Given the description of an element on the screen output the (x, y) to click on. 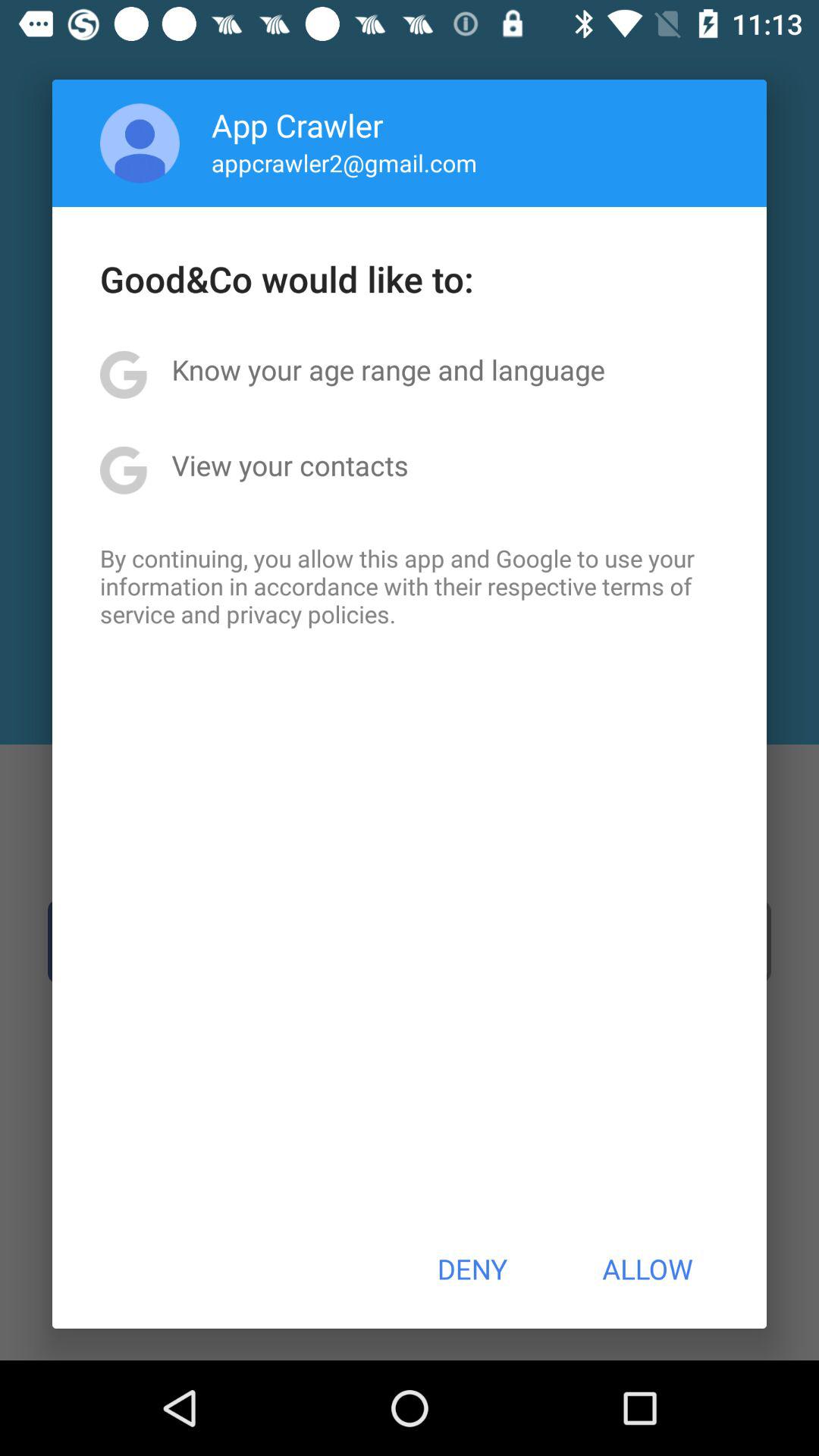
turn on appcrawler2@gmail.com (344, 162)
